Given the description of an element on the screen output the (x, y) to click on. 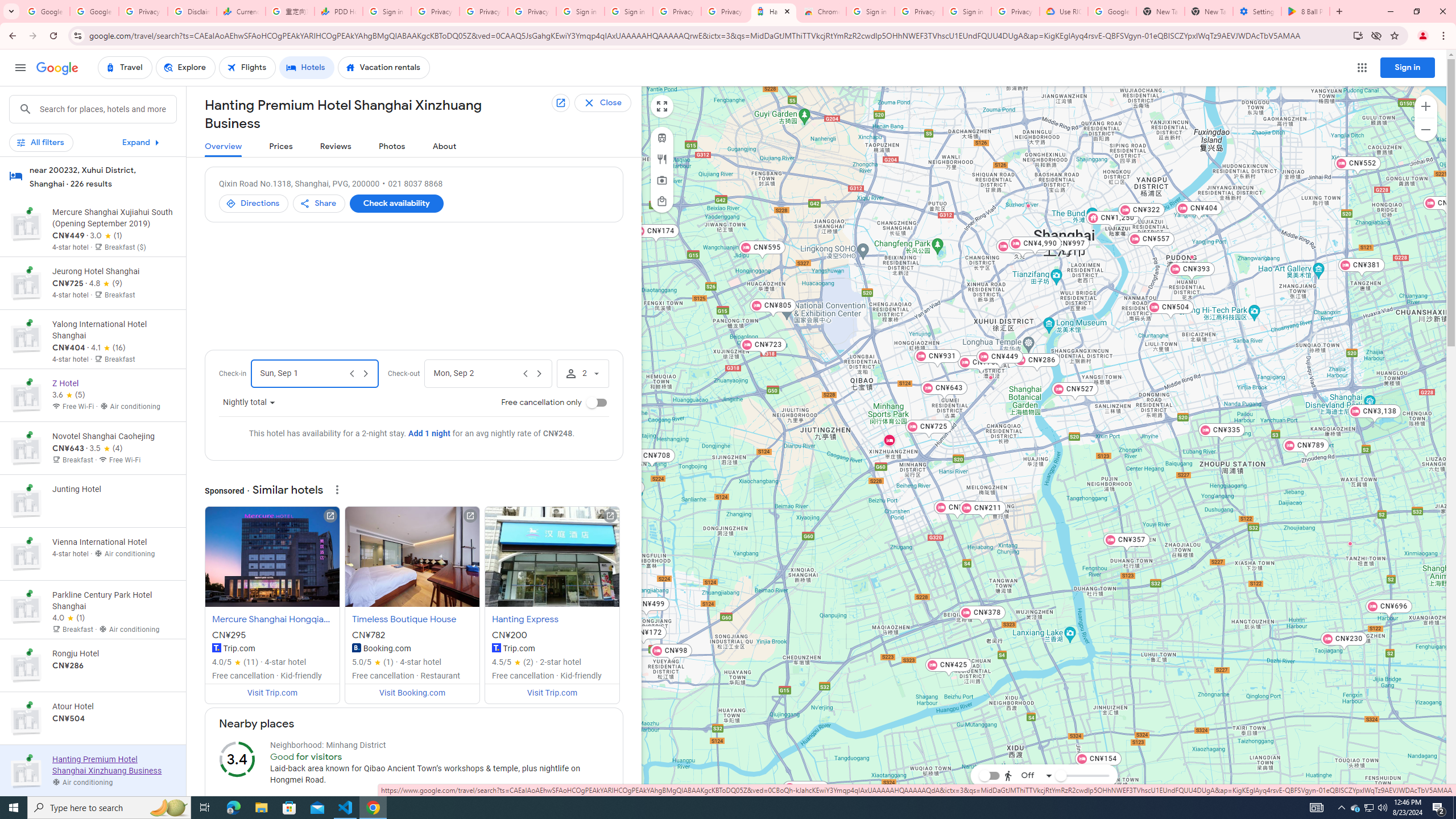
About (444, 146)
Flights (247, 67)
Transit (661, 138)
